Given the description of an element on the screen output the (x, y) to click on. 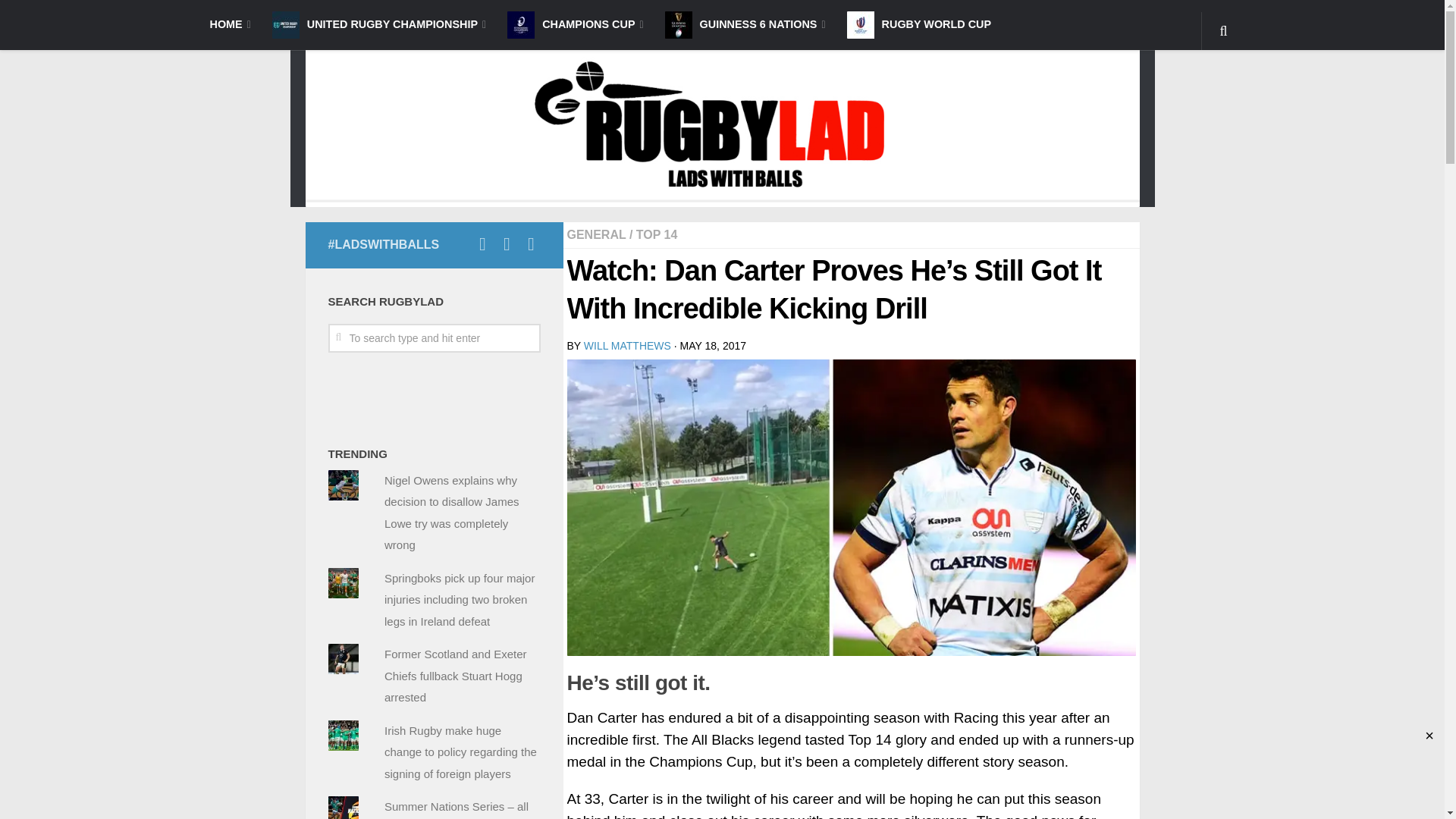
GUINNESS 6 NATIONS (744, 24)
CHAMPIONS CUP (574, 24)
Follow us on Instagram (506, 244)
UNITED RUGBY CHAMPIONSHIP (379, 24)
GENERAL (596, 234)
Posts by Will Matthews (627, 345)
To search type and hit enter (433, 337)
Like us on Facebook (482, 244)
WILL MATTHEWS (627, 345)
Follow us on Twitter (530, 244)
Facebook (457, 244)
TOP 14 (657, 234)
HOME (229, 23)
To search type and hit enter (433, 337)
